Given the description of an element on the screen output the (x, y) to click on. 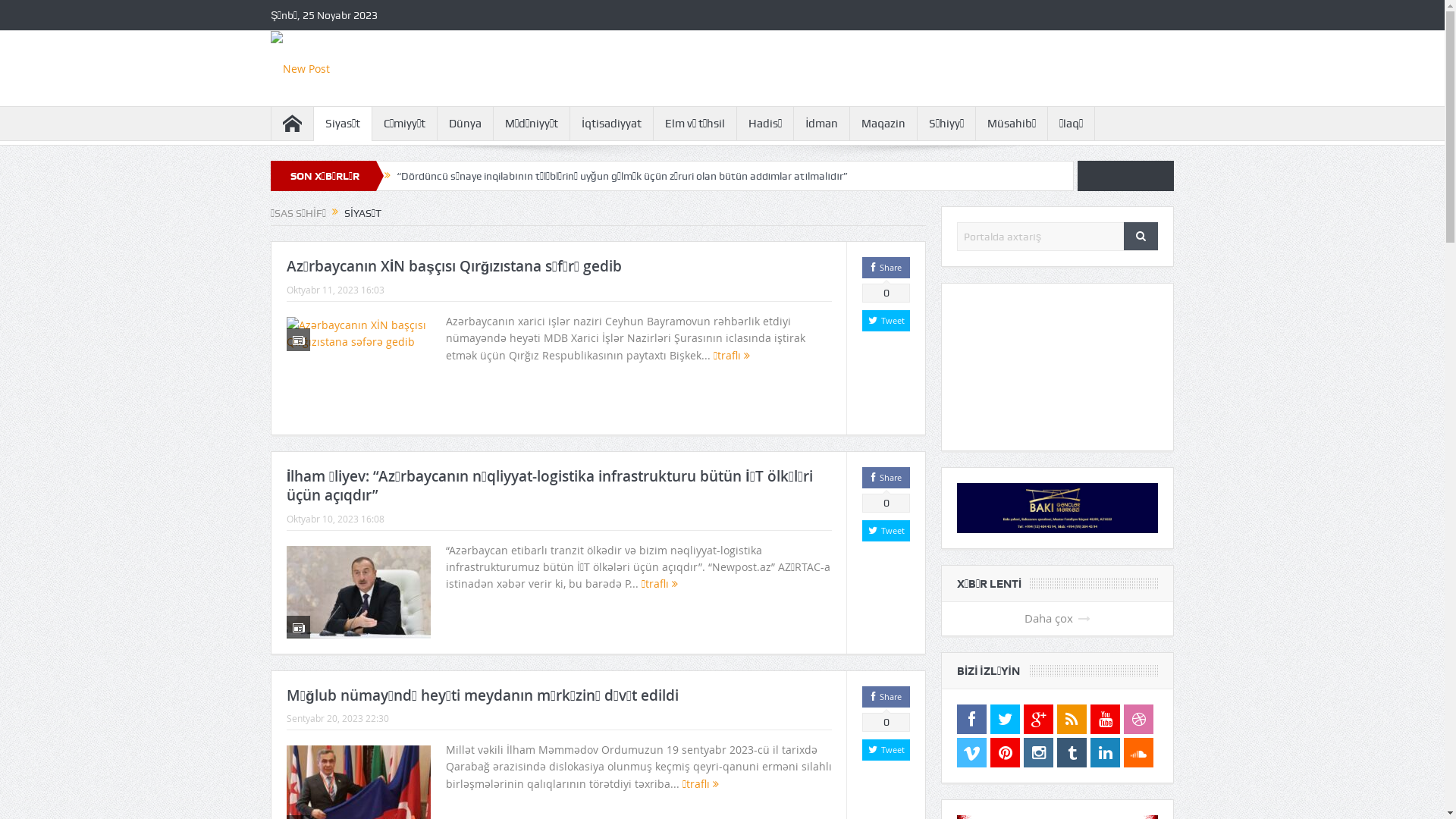
Tweet Element type: text (886, 530)
Tweet Element type: text (886, 320)
Share Element type: text (886, 477)
Tweet Element type: text (886, 749)
Share Element type: text (886, 696)
Maqazin Element type: text (883, 123)
Share Element type: text (886, 267)
